Given the description of an element on the screen output the (x, y) to click on. 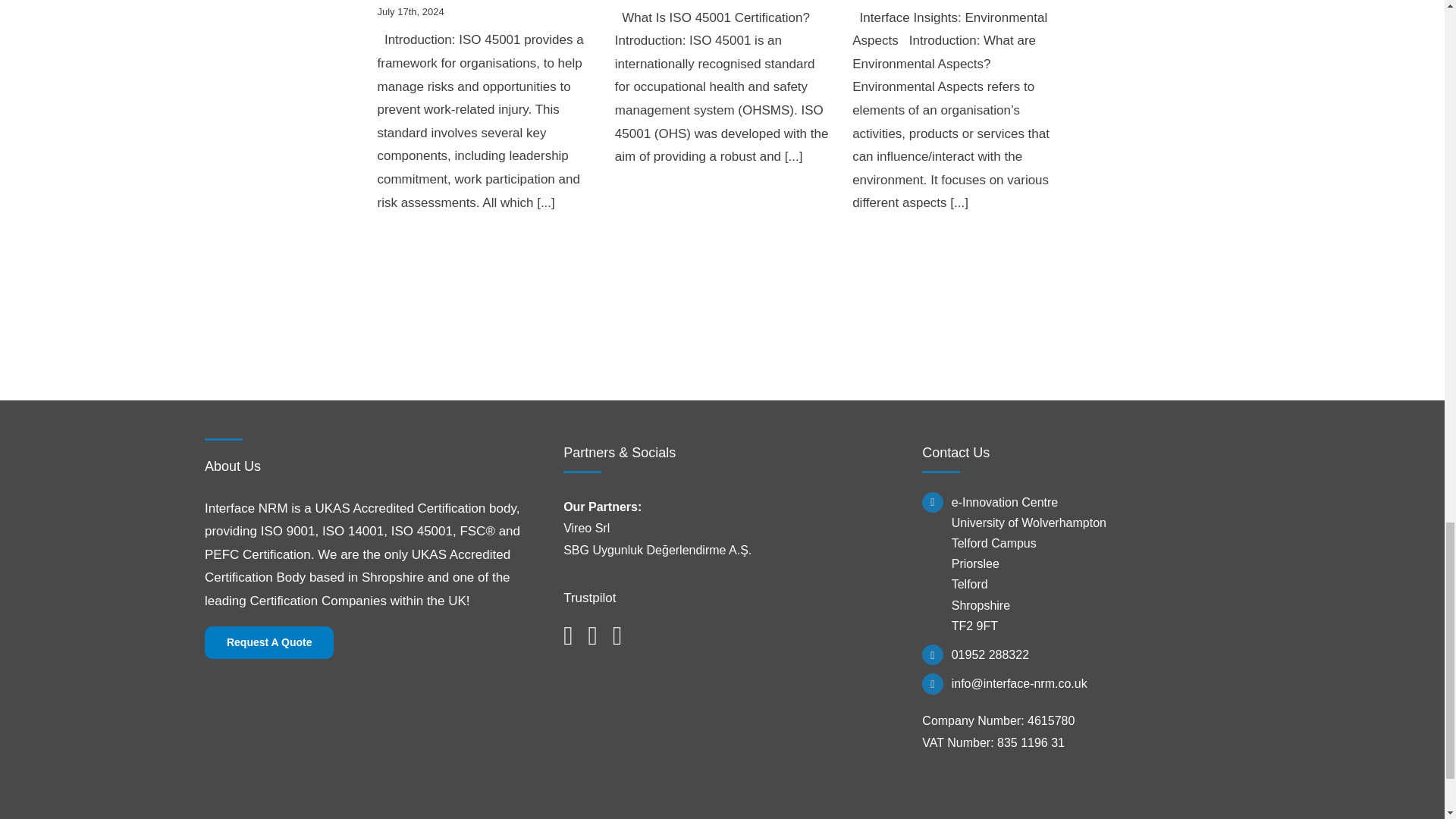
Twitter (592, 636)
Facebook (567, 636)
LinkedIn (616, 636)
